Given the description of an element on the screen output the (x, y) to click on. 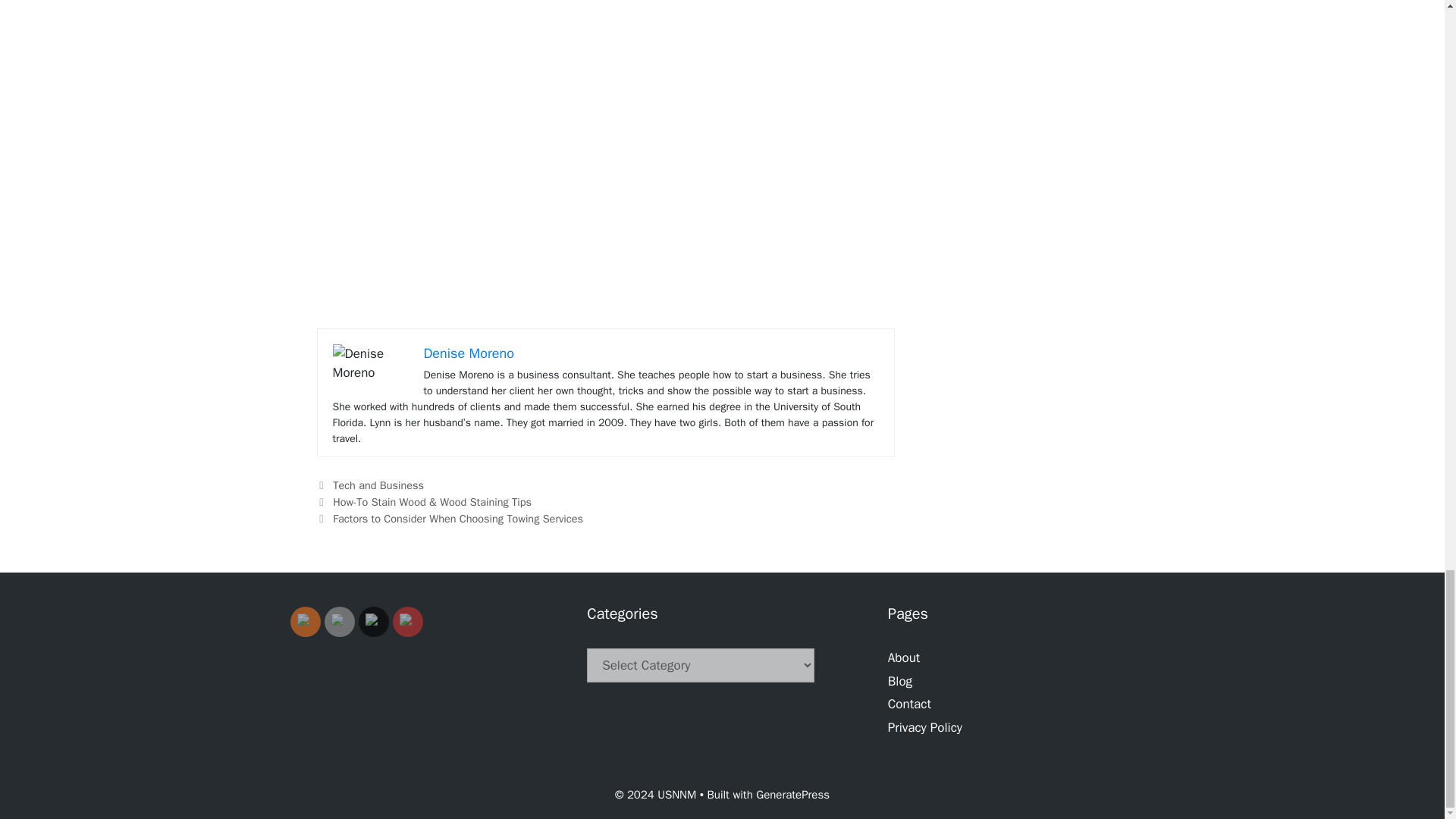
Factors to Consider When Choosing Towing Services (458, 518)
GeneratePress (792, 794)
Tech and Business (378, 485)
RSS (305, 621)
Twitter (373, 621)
Privacy Policy (925, 727)
Contact (909, 703)
Pinterest (406, 621)
Blog (900, 681)
